Given the description of an element on the screen output the (x, y) to click on. 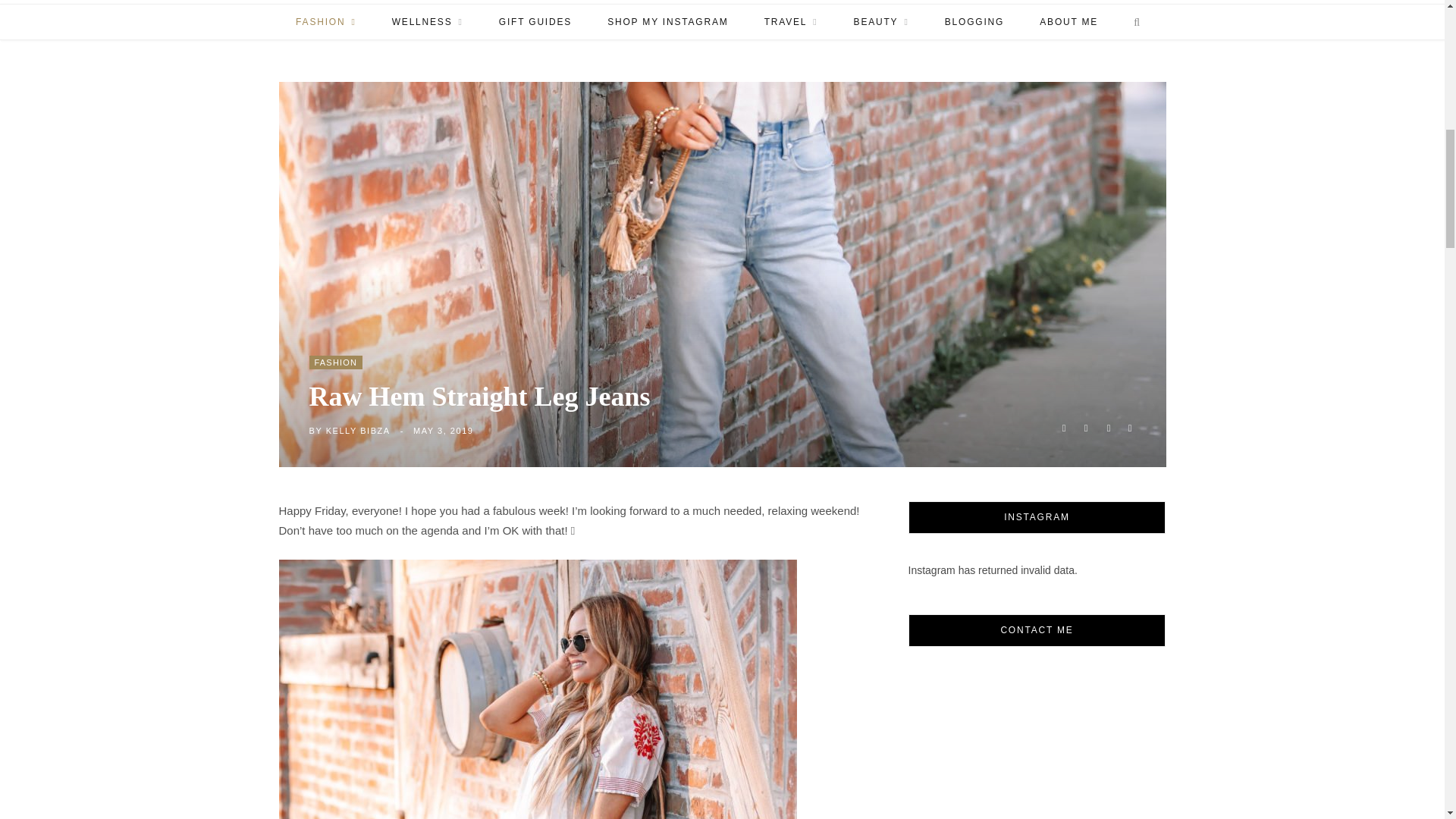
FASHION (325, 22)
